Given the description of an element on the screen output the (x, y) to click on. 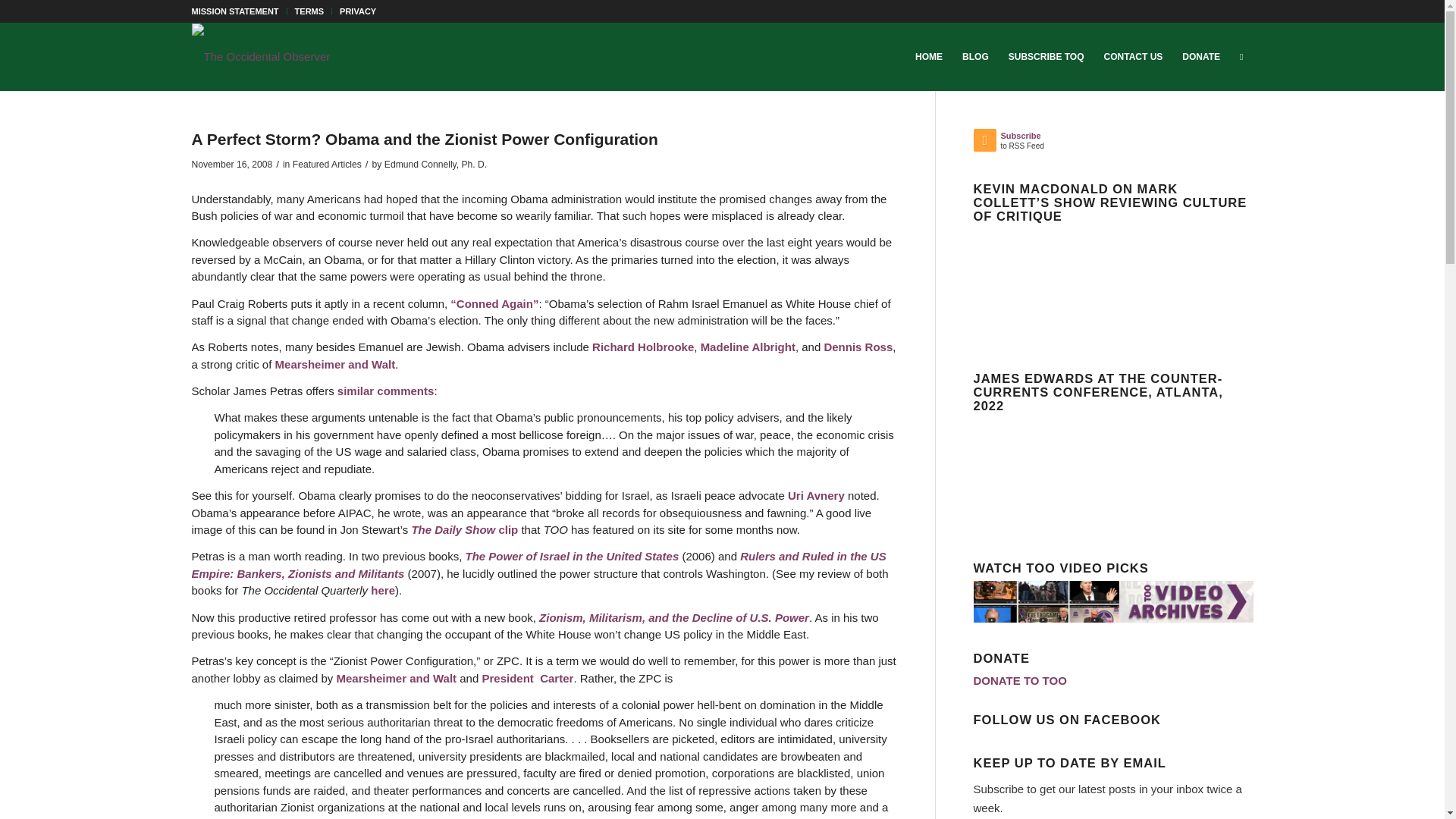
Edmund Connelly, Ph. D. (435, 163)
MISSION STATEMENT (234, 11)
similar comments (385, 390)
The Power of Israel in the United States (569, 555)
TERMS (309, 11)
CONTACT US (1133, 56)
Posts by Edmund Connelly, Ph. D. (435, 163)
Richard Holbrooke (643, 346)
here (382, 590)
President  Carter (527, 677)
Zionism, Militarism, and the Decline of U.S. Power (673, 617)
The Daily Show clip (464, 529)
SUBSCRIBE TOQ (1046, 56)
Featured Articles (326, 163)
Mearsheimer and Walt (398, 677)
